Given the description of an element on the screen output the (x, y) to click on. 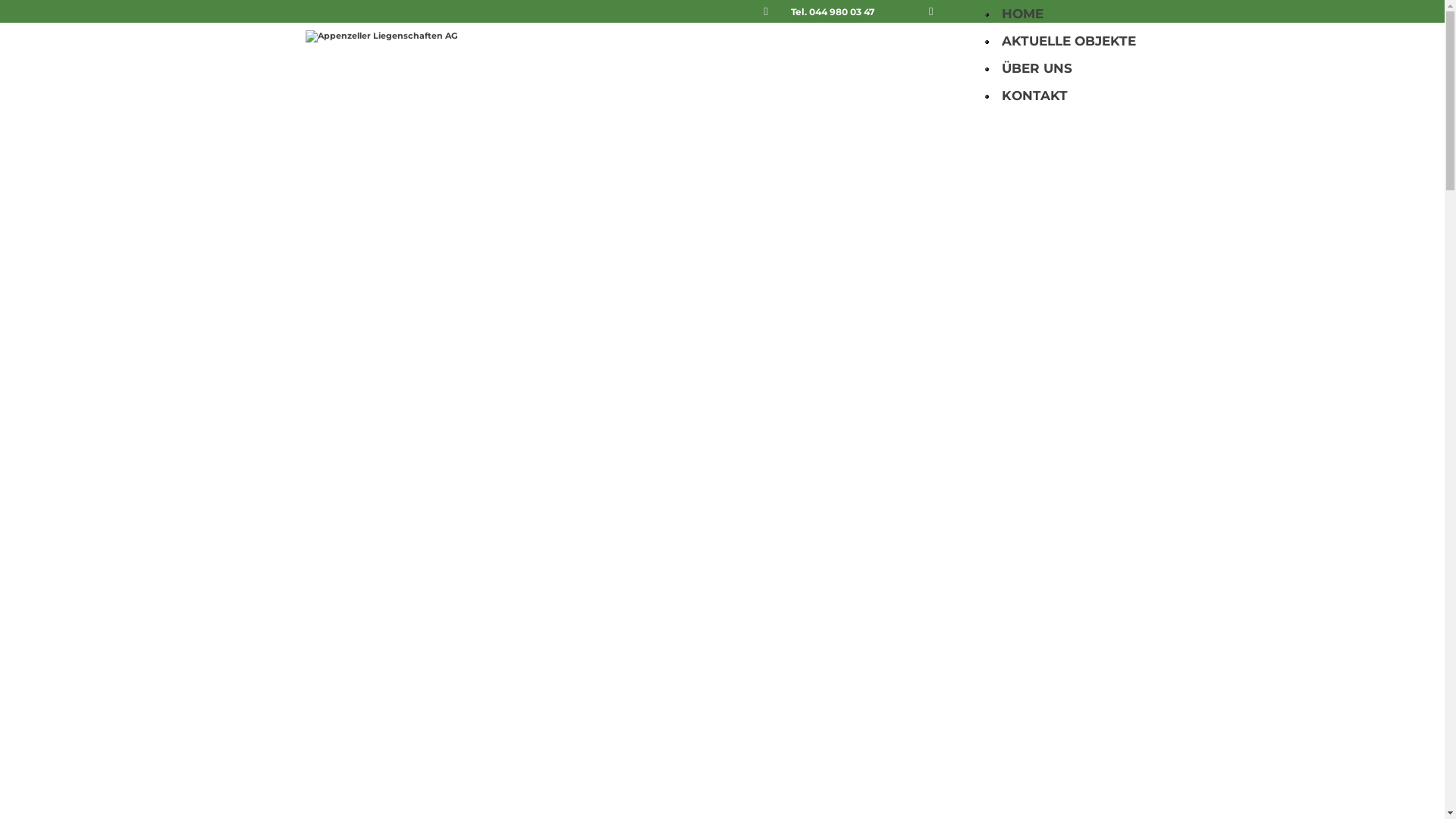
Appenzeller Liegenschaften AG Element type: hover (401, 56)
HOME Element type: text (1021, 13)
AKTUELLE OBJEKTE Element type: text (1068, 40)
KONTAKT Element type: text (1033, 95)
